Given the description of an element on the screen output the (x, y) to click on. 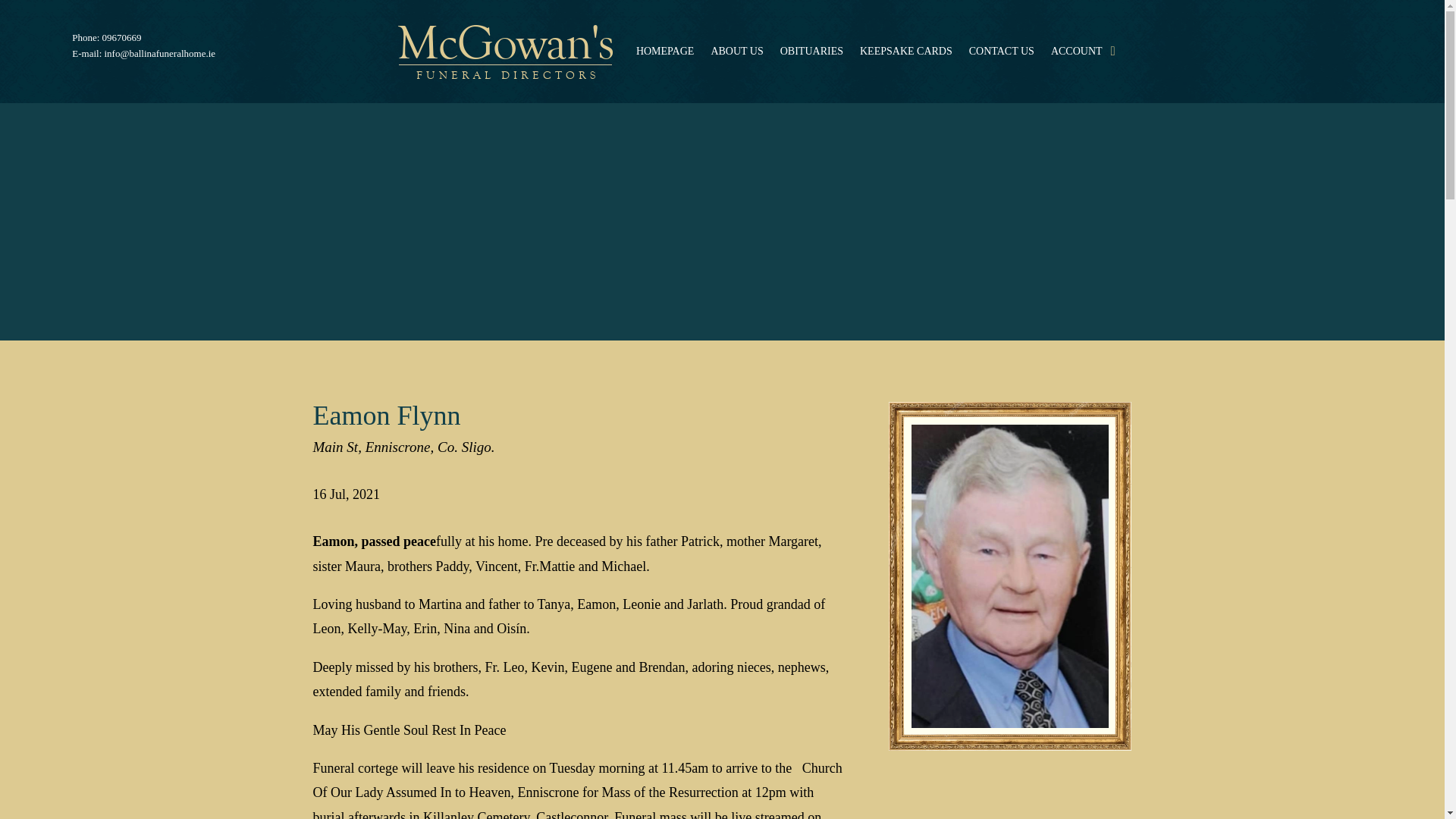
CONTACT US (1001, 51)
OBITUARIES (811, 51)
ACCOUNT (1076, 51)
ABOUT US (736, 51)
HOMEPAGE (665, 51)
KEEPSAKE CARDS (906, 51)
